Given the description of an element on the screen output the (x, y) to click on. 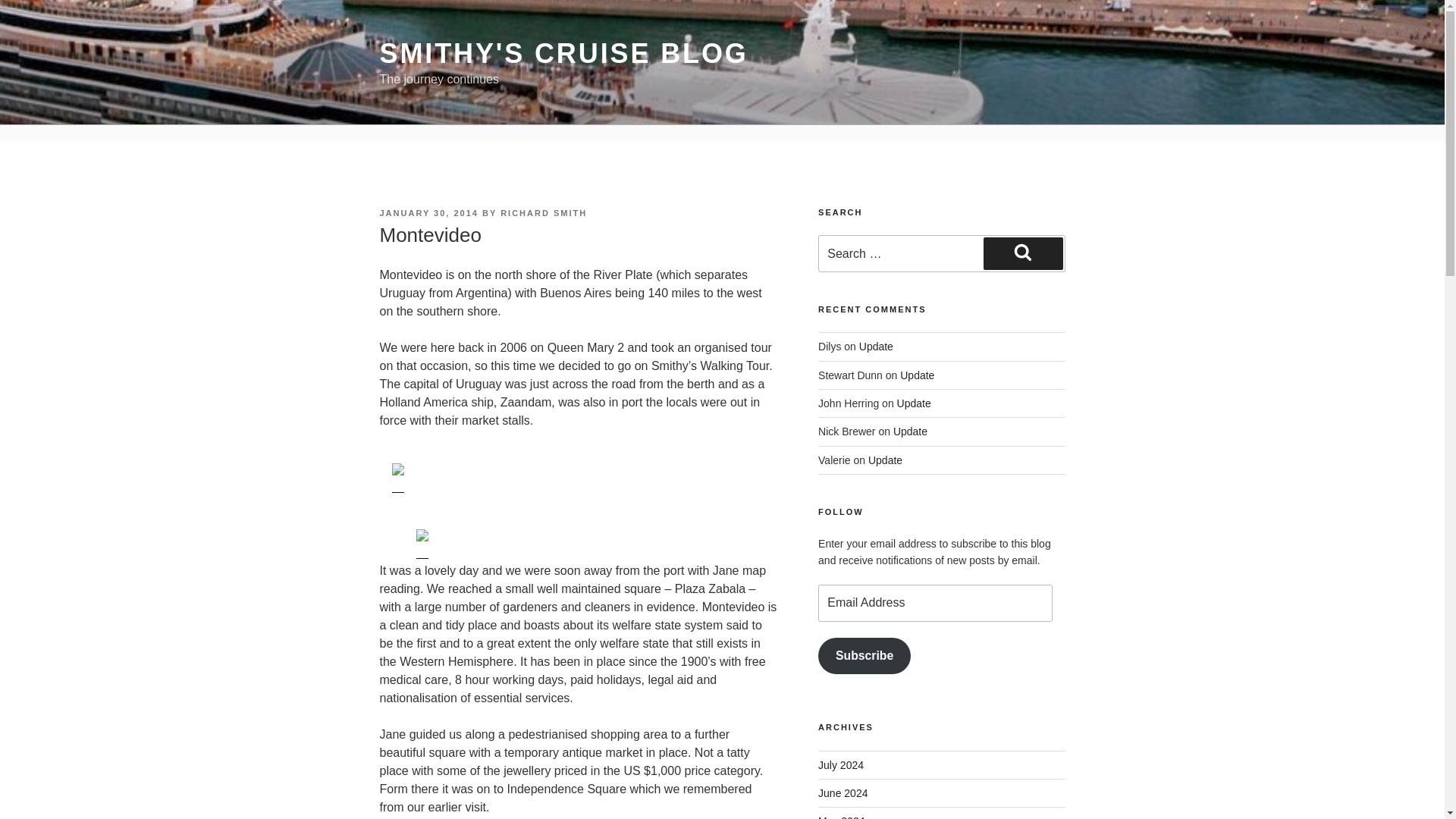
Update (913, 403)
Update (884, 460)
SMITHY'S CRUISE BLOG (563, 52)
June 2024 (842, 793)
July 2024 (840, 765)
Subscribe (864, 656)
JANUARY 30, 2014 (427, 212)
Update (910, 431)
Search (1023, 253)
May 2024 (841, 816)
